Given the description of an element on the screen output the (x, y) to click on. 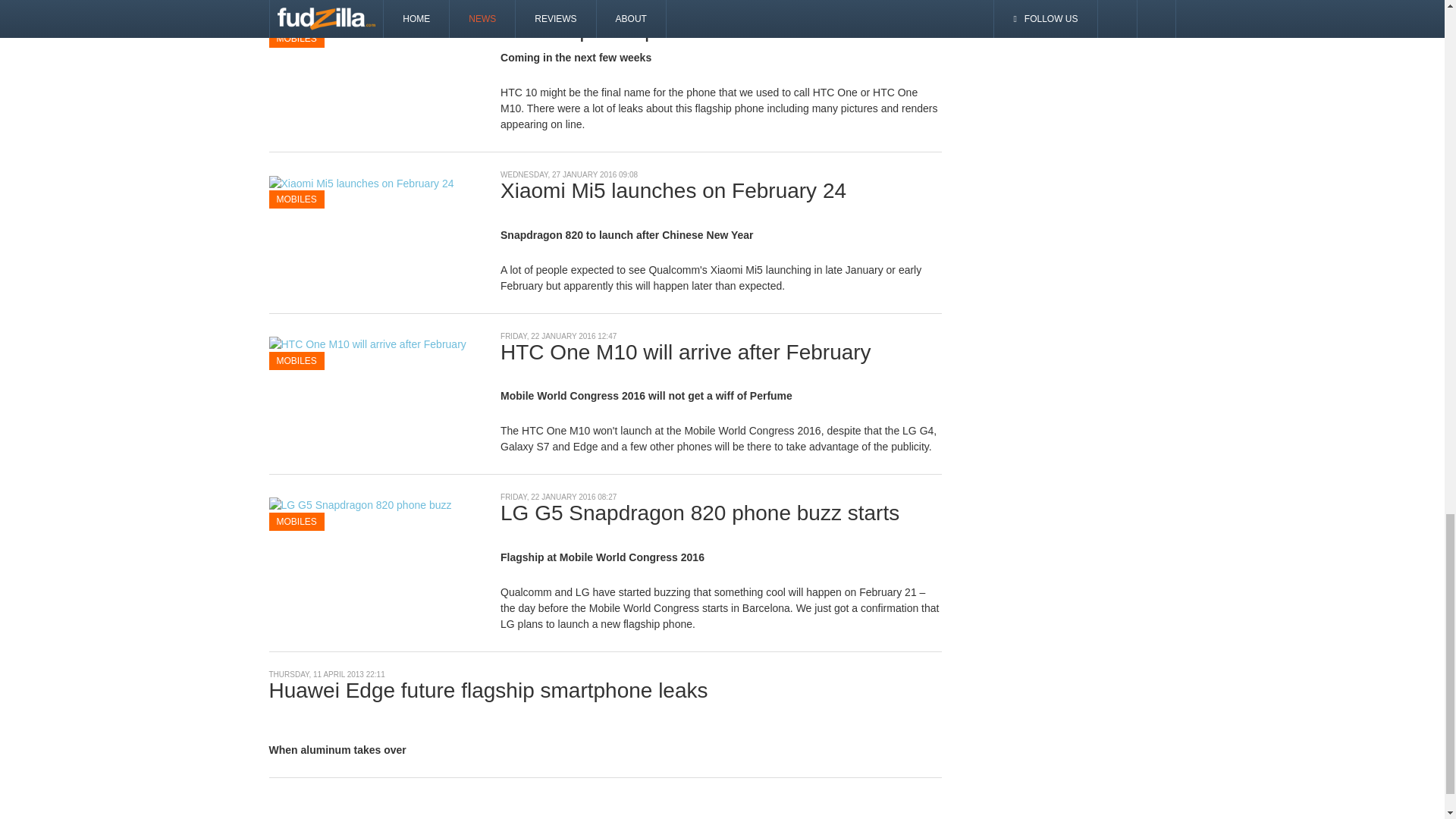
HTC One M10 will arrive after February (366, 343)
Xiaomi Mi5 launches on February 24 (359, 182)
HTC 10 phone pictured (328, 21)
LG G5 Snapdragon 820 phone buzz starts (372, 512)
